Given the description of an element on the screen output the (x, y) to click on. 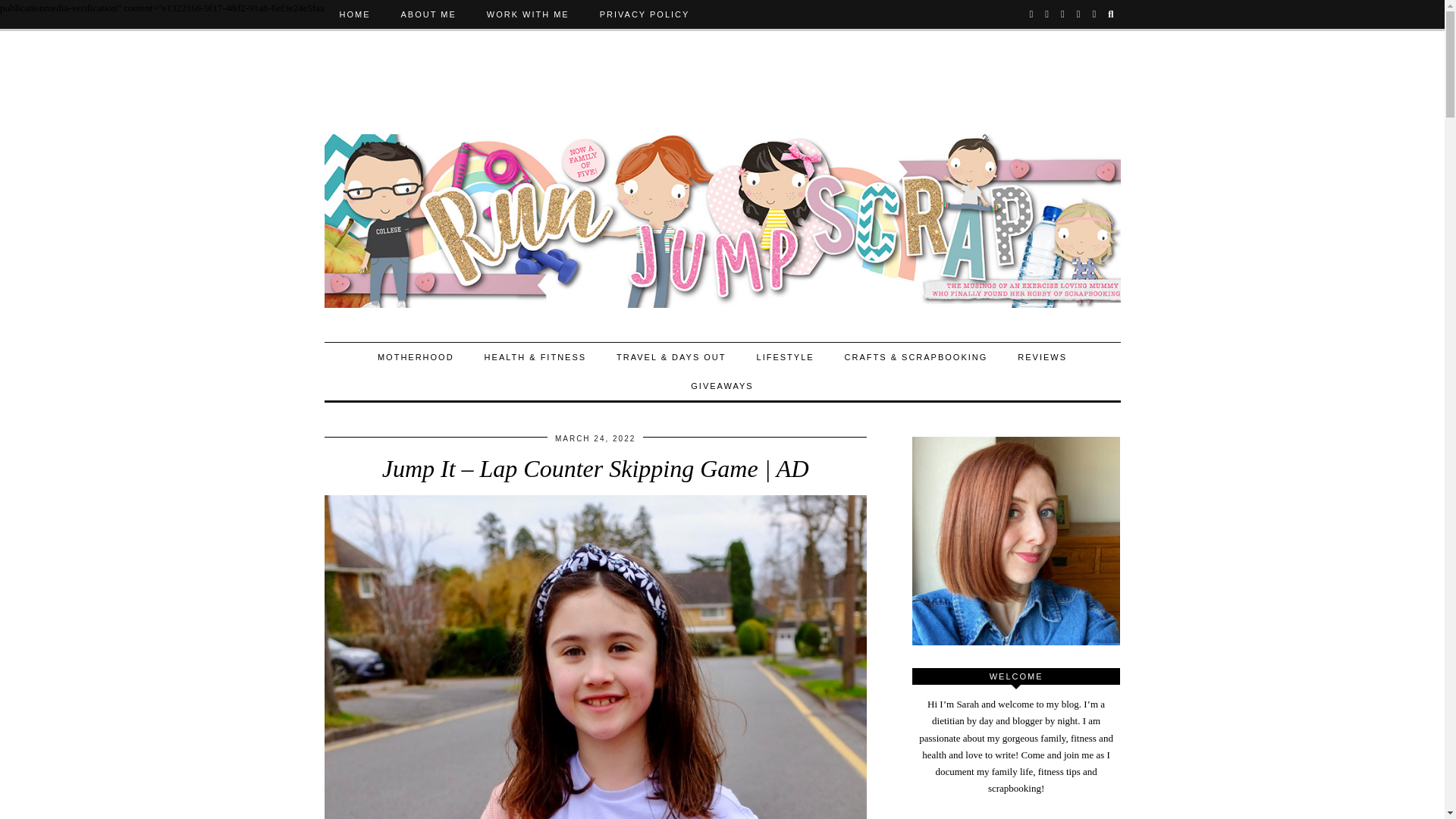
Twitter (1032, 14)
Instagram (1047, 14)
Pinterest (1063, 14)
Facebook (1079, 14)
